Given the description of an element on the screen output the (x, y) to click on. 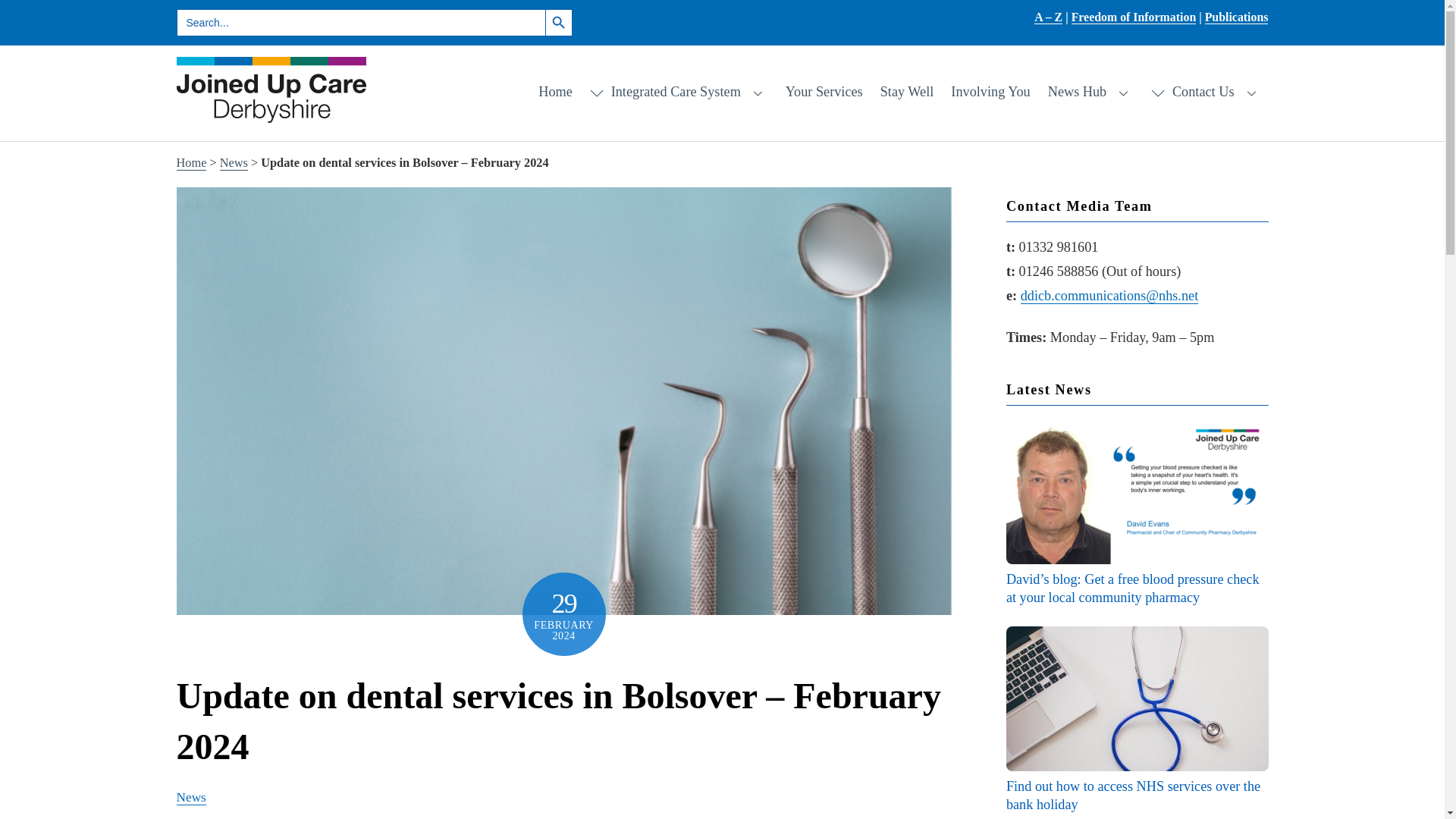
News Hub (1091, 93)
Freedom of Information (1133, 17)
Joined Up Care Derbyshire (270, 113)
David Evans blog (1137, 491)
Contact Us (1206, 93)
Home (191, 162)
Publications (1236, 17)
Home (555, 93)
Involving You (989, 93)
Integrated Care System (678, 93)
